Given the description of an element on the screen output the (x, y) to click on. 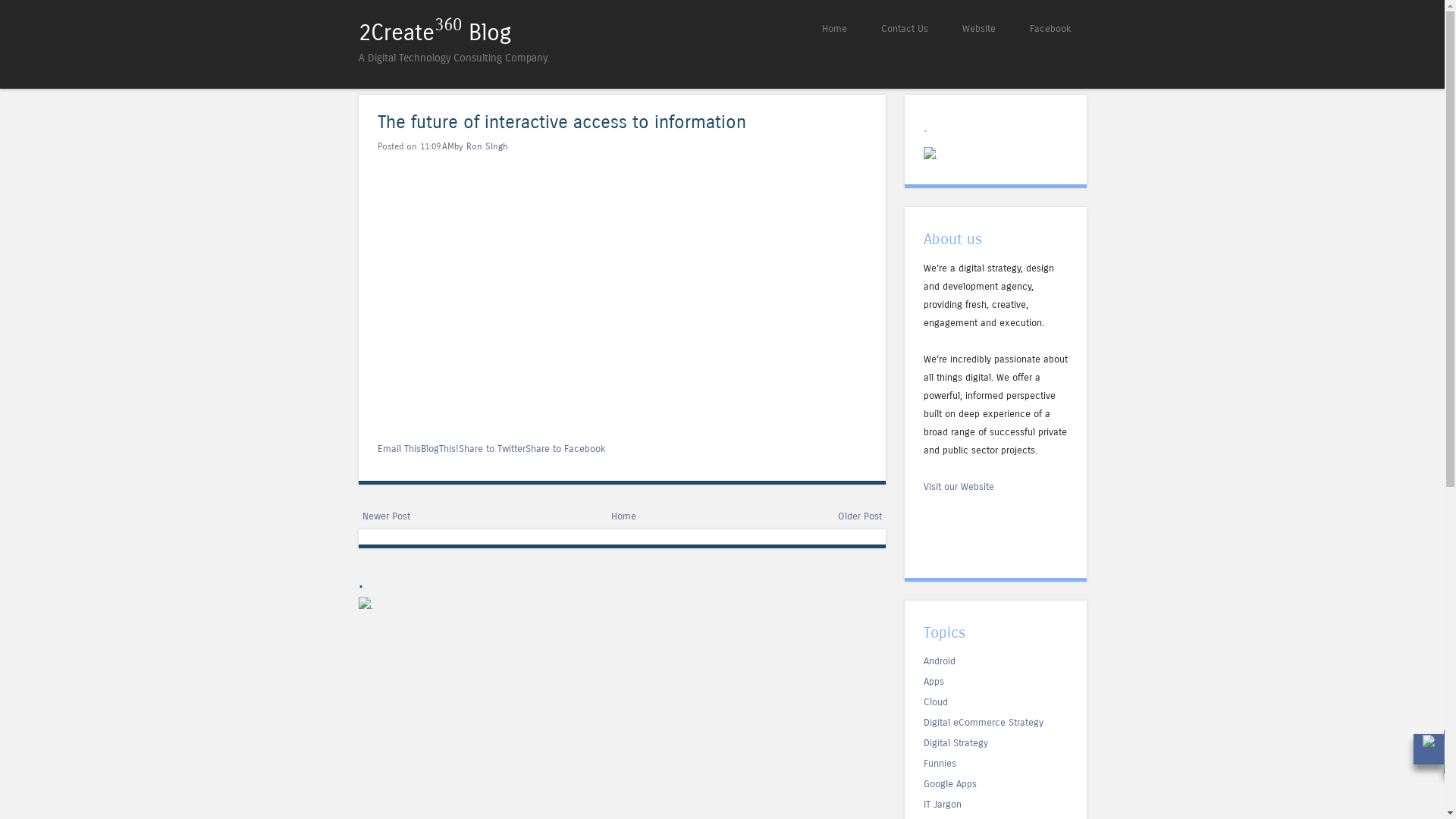
Facebook Element type: text (1050, 27)
IT Jargon Element type: text (942, 803)
Website Element type: text (978, 27)
Android Element type: text (939, 660)
Home Element type: text (623, 515)
Home Element type: text (834, 27)
Email This Element type: text (398, 448)
Apps Element type: text (933, 681)
Digital Strategy Element type: text (955, 742)
BlogThis! Element type: text (439, 448)
Share to Facebook Element type: text (564, 448)
Digital eCommerce Strategy Element type: text (983, 722)
Cloud Element type: text (935, 701)
The future of interactive access to information Element type: text (561, 122)
Older Post Element type: text (859, 515)
Newer Post Element type: text (386, 515)
Google Apps Element type: text (949, 783)
Contact Us Element type: text (904, 27)
2Create360 Blog Element type: text (433, 32)
Funnies Element type: text (939, 762)
Visit our Website Element type: text (958, 486)
Share to Twitter Element type: text (491, 448)
Skip to content Element type: text (769, 27)
Ron SIngh Element type: text (486, 146)
